Given the description of an element on the screen output the (x, y) to click on. 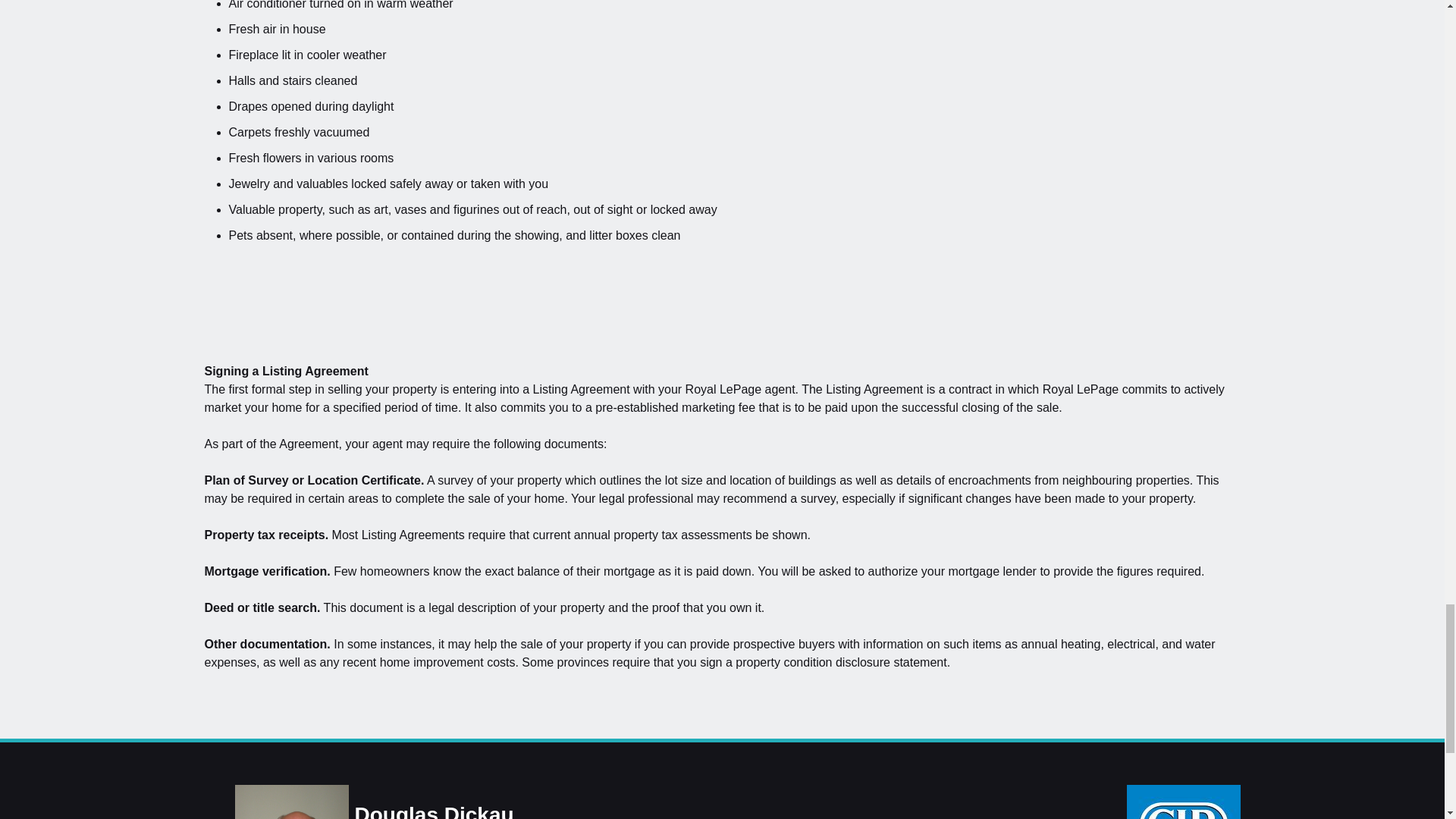
Douglas Dickau (291, 801)
